Given the description of an element on the screen output the (x, y) to click on. 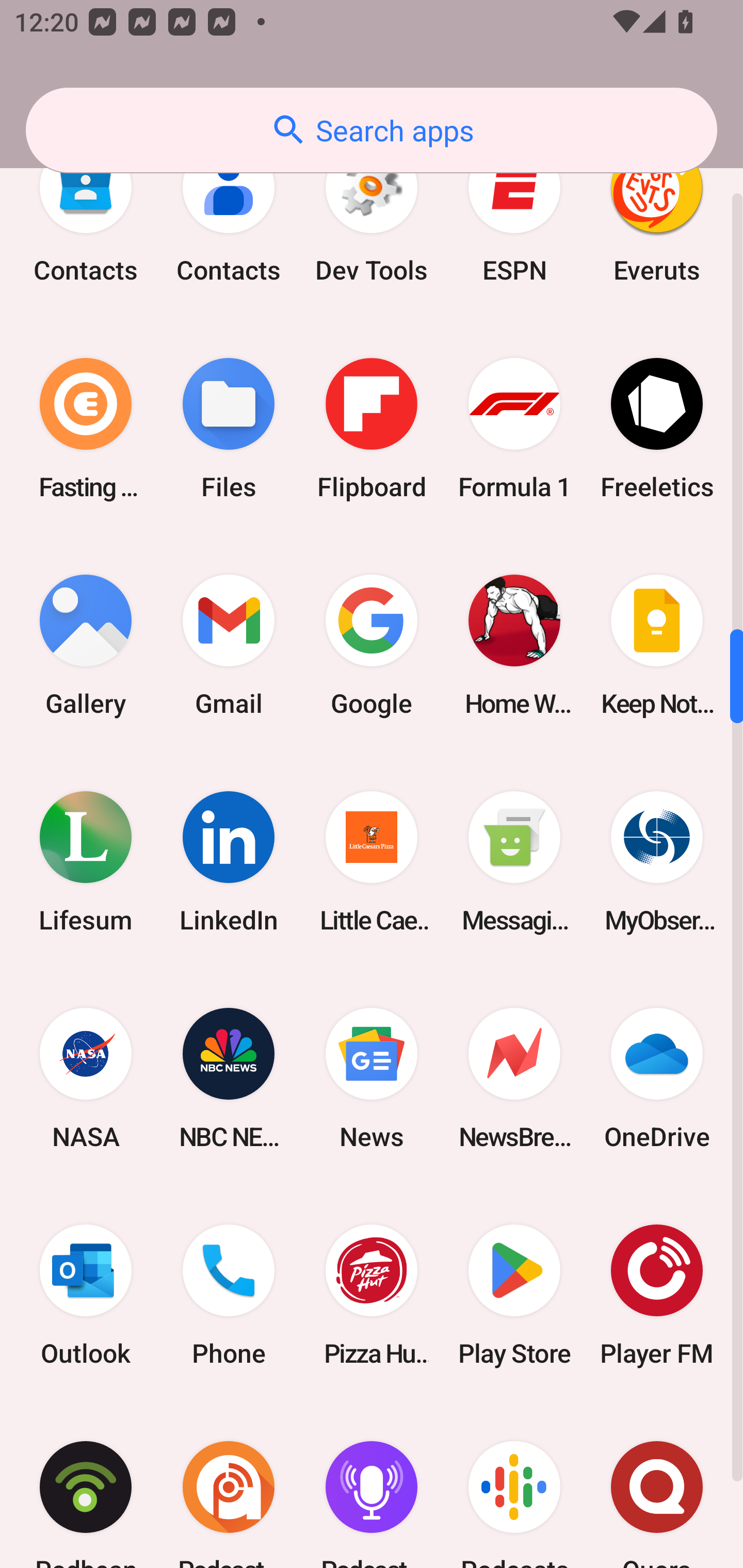
  Search apps (371, 130)
Contacts (85, 211)
Contacts (228, 211)
Dev Tools (371, 211)
ESPN (514, 211)
Everuts (656, 211)
Fasting Coach (85, 427)
Files (228, 427)
Flipboard (371, 427)
Formula 1 (514, 427)
Freeletics (656, 427)
Gallery (85, 645)
Gmail (228, 645)
Google (371, 645)
Home Workout (514, 645)
Keep Notes (656, 645)
Lifesum (85, 862)
LinkedIn (228, 862)
Little Caesars Pizza (371, 862)
Messaging (514, 862)
MyObservatory (656, 862)
NASA (85, 1078)
NBC NEWS (228, 1078)
News (371, 1078)
NewsBreak (514, 1078)
OneDrive (656, 1078)
Outlook (85, 1294)
Phone (228, 1294)
Pizza Hut HK & Macau (371, 1294)
Play Store (514, 1294)
Player FM (656, 1294)
Podbean (85, 1485)
Podcast Addict (228, 1485)
Podcast Player (371, 1485)
Podcasts (514, 1485)
Quora (656, 1485)
